Given the description of an element on the screen output the (x, y) to click on. 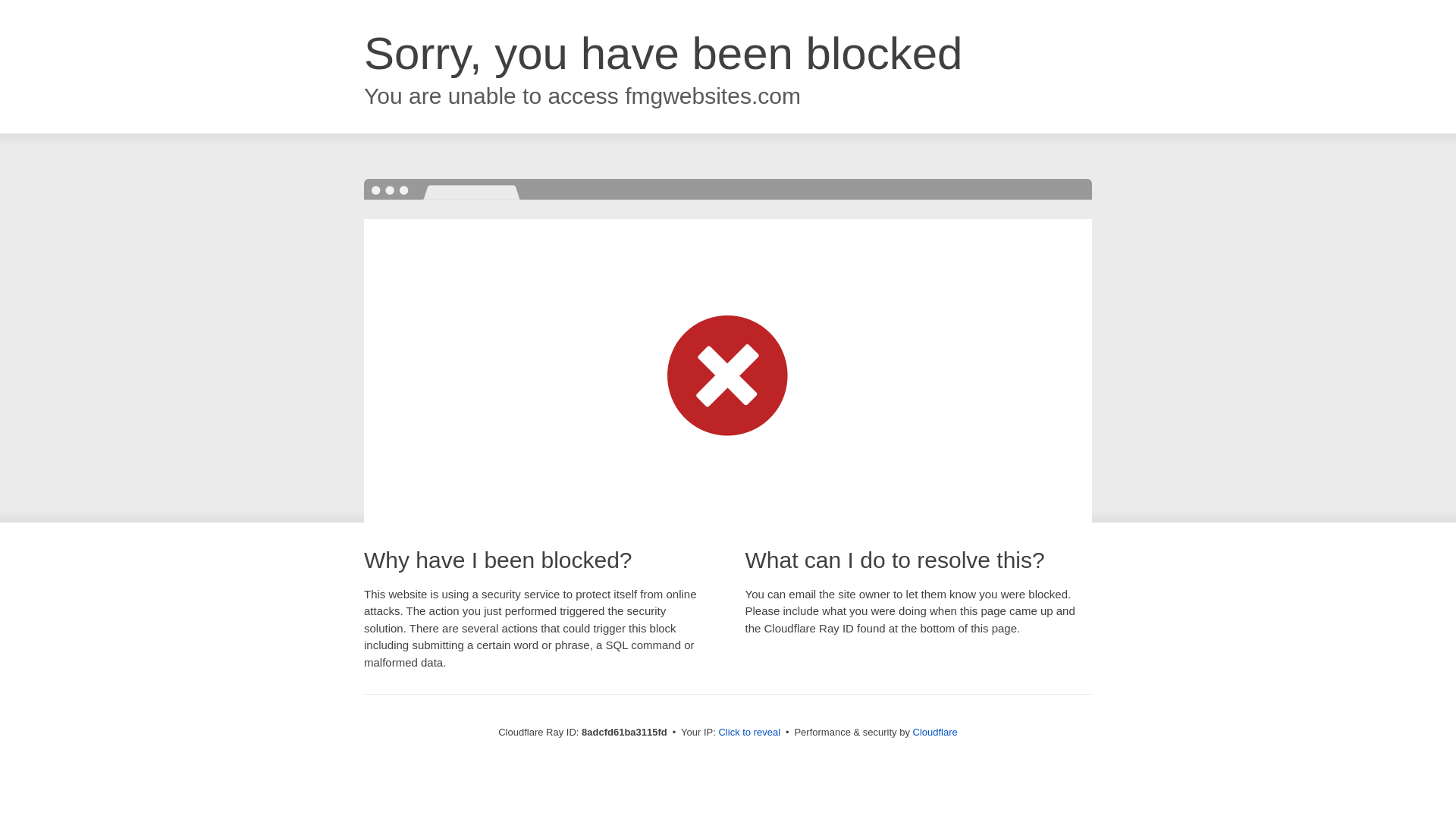
Cloudflare (935, 731)
Click to reveal (748, 732)
